Given the description of an element on the screen output the (x, y) to click on. 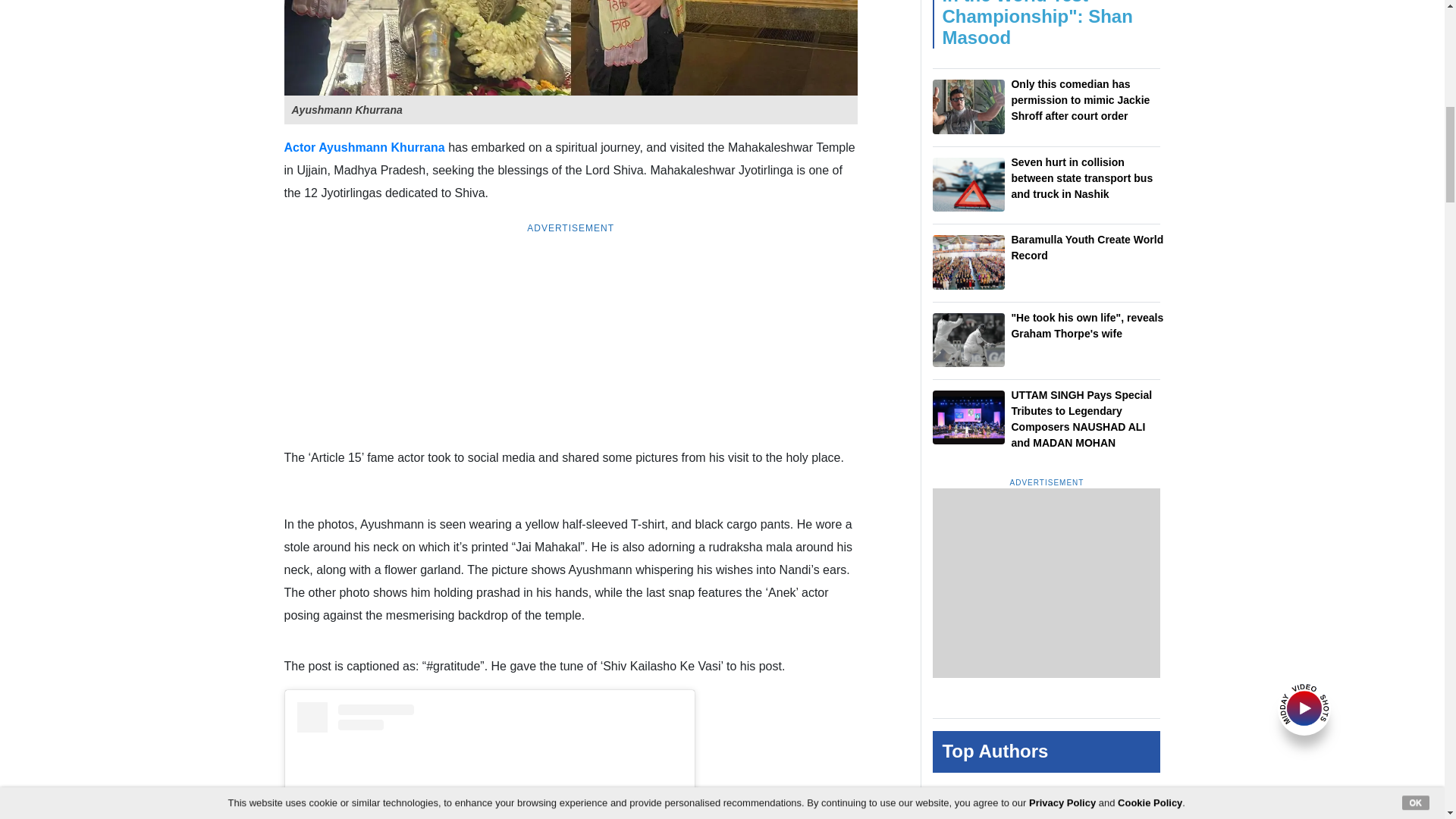
Baramulla Youth Create World Record (968, 262)
